Given the description of an element on the screen output the (x, y) to click on. 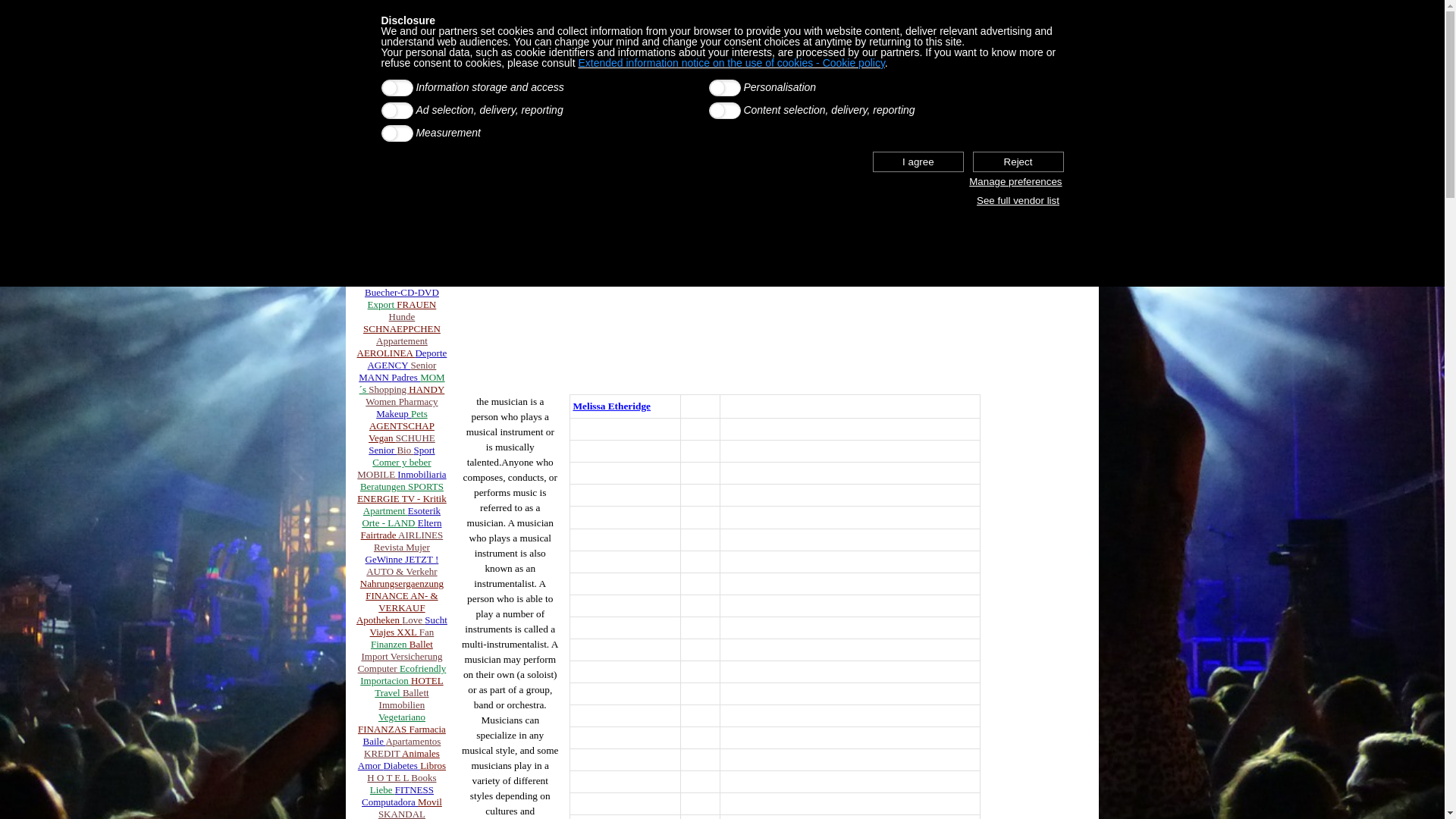
Menue (403, 256)
Advertisement (721, 307)
